Given the description of an element on the screen output the (x, y) to click on. 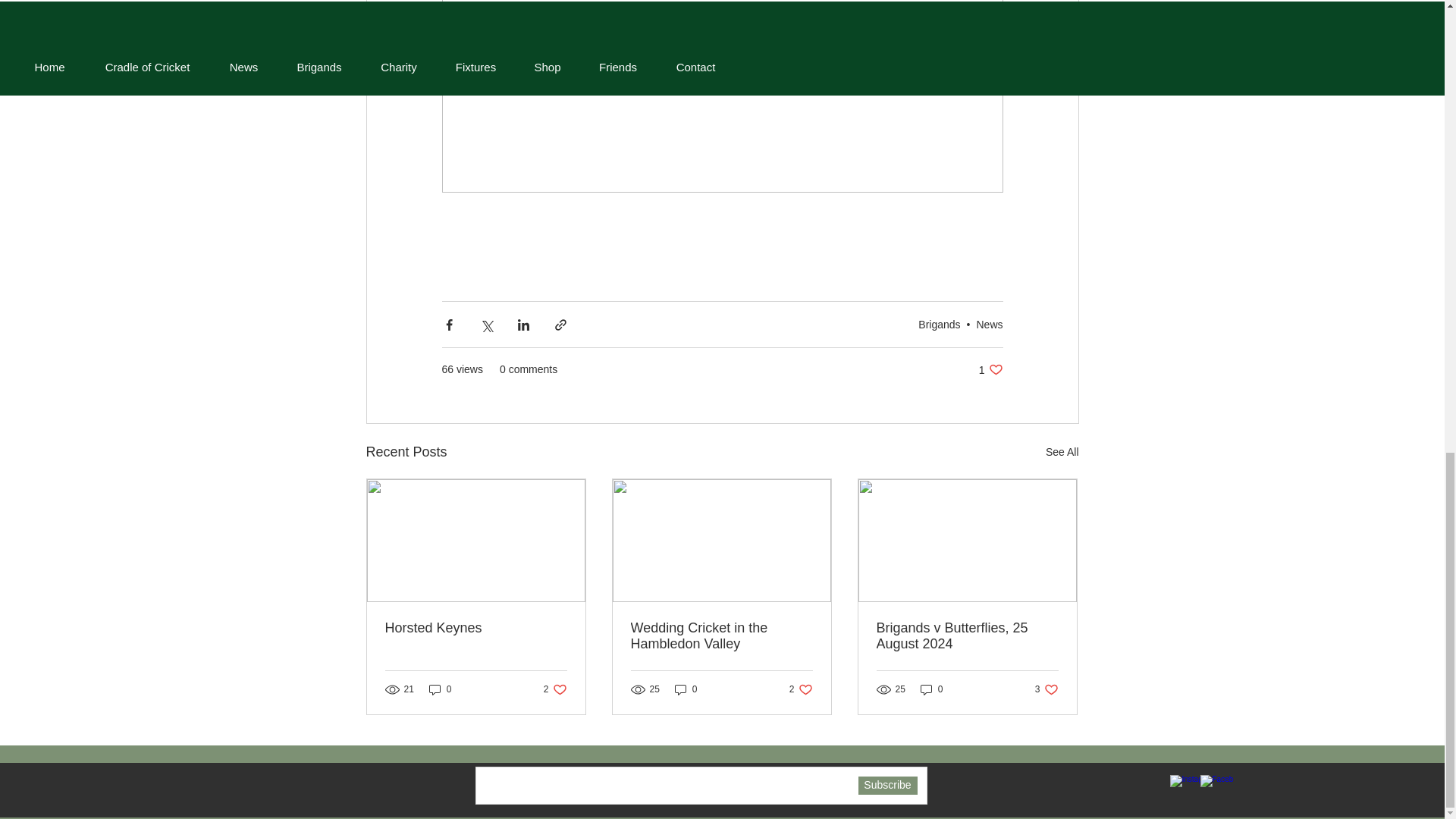
Wedding Cricket in the Hambledon Valley (721, 635)
Horsted Keynes (476, 627)
News (989, 324)
0 (1046, 689)
0 (931, 689)
Subscribe (685, 689)
Brigands v Butterflies, 25 August 2024 (887, 785)
